Given the description of an element on the screen output the (x, y) to click on. 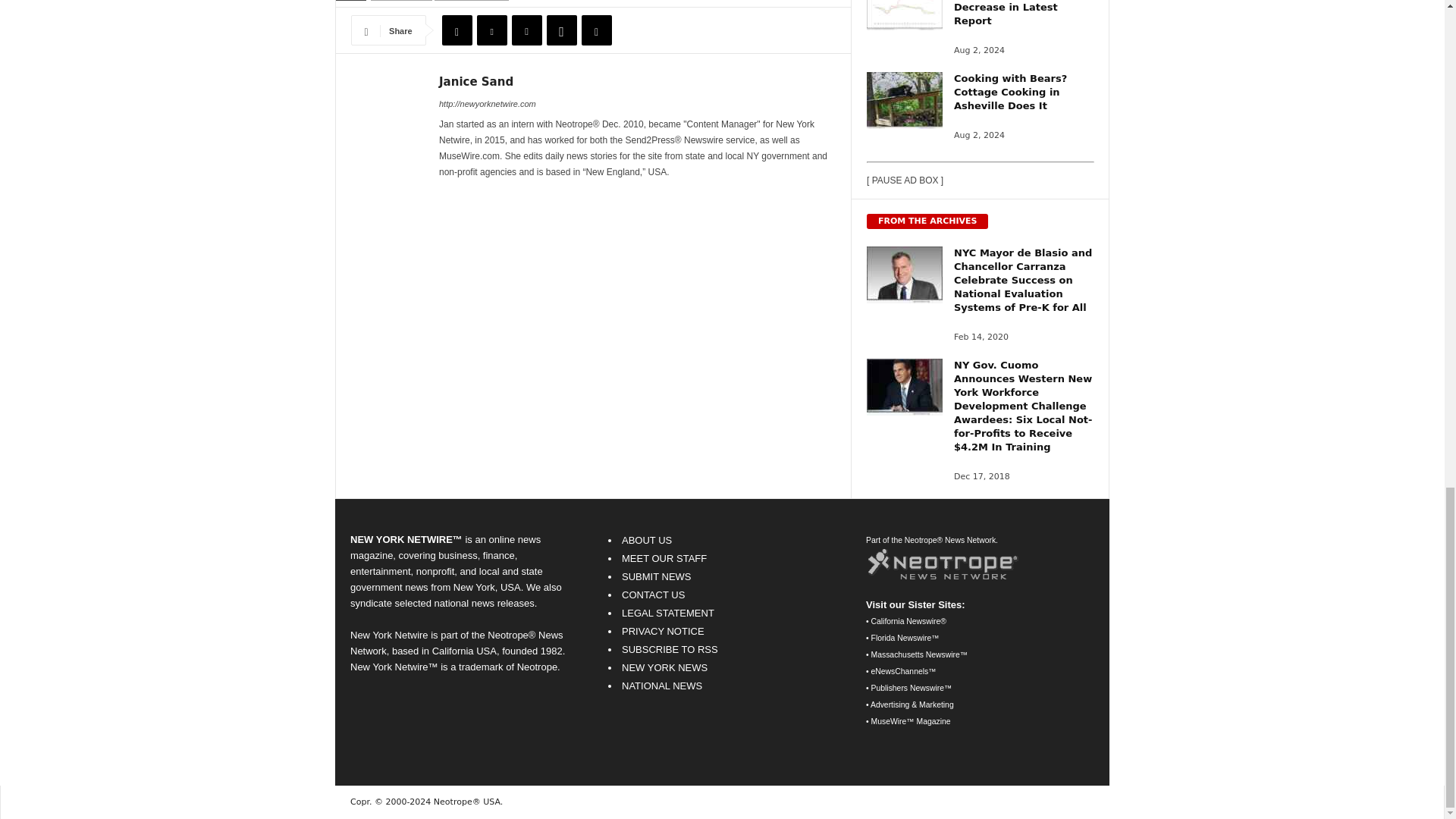
Facebook (456, 30)
Twitter (491, 30)
